Given the description of an element on the screen output the (x, y) to click on. 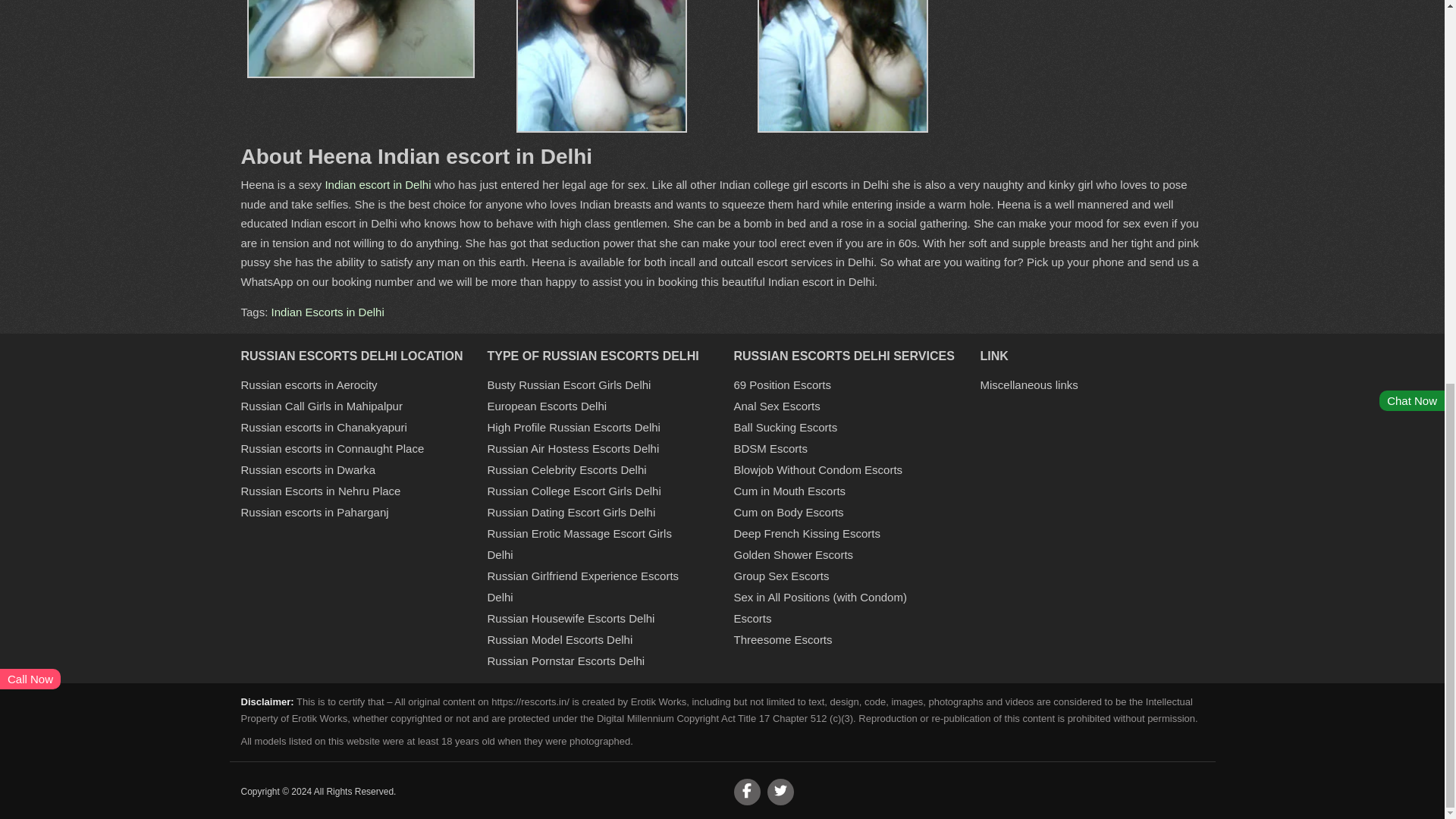
Busty Russian Escort Girls Delhi (568, 384)
Russian escorts in Connaught Place (333, 448)
Russian escorts in Aerocity (309, 384)
Russian Escorts in Nehru Place (321, 490)
Russian escorts in Paharganj (314, 512)
Russian Erotic Massage Escort Girls Delhi (578, 544)
Russian Air Hostess Escorts Delhi (572, 448)
Russian escorts in Chanakyapuri (324, 427)
Russian Dating Escort Girls Delhi (570, 512)
Russian escorts in Connaught Place (333, 448)
